Given the description of an element on the screen output the (x, y) to click on. 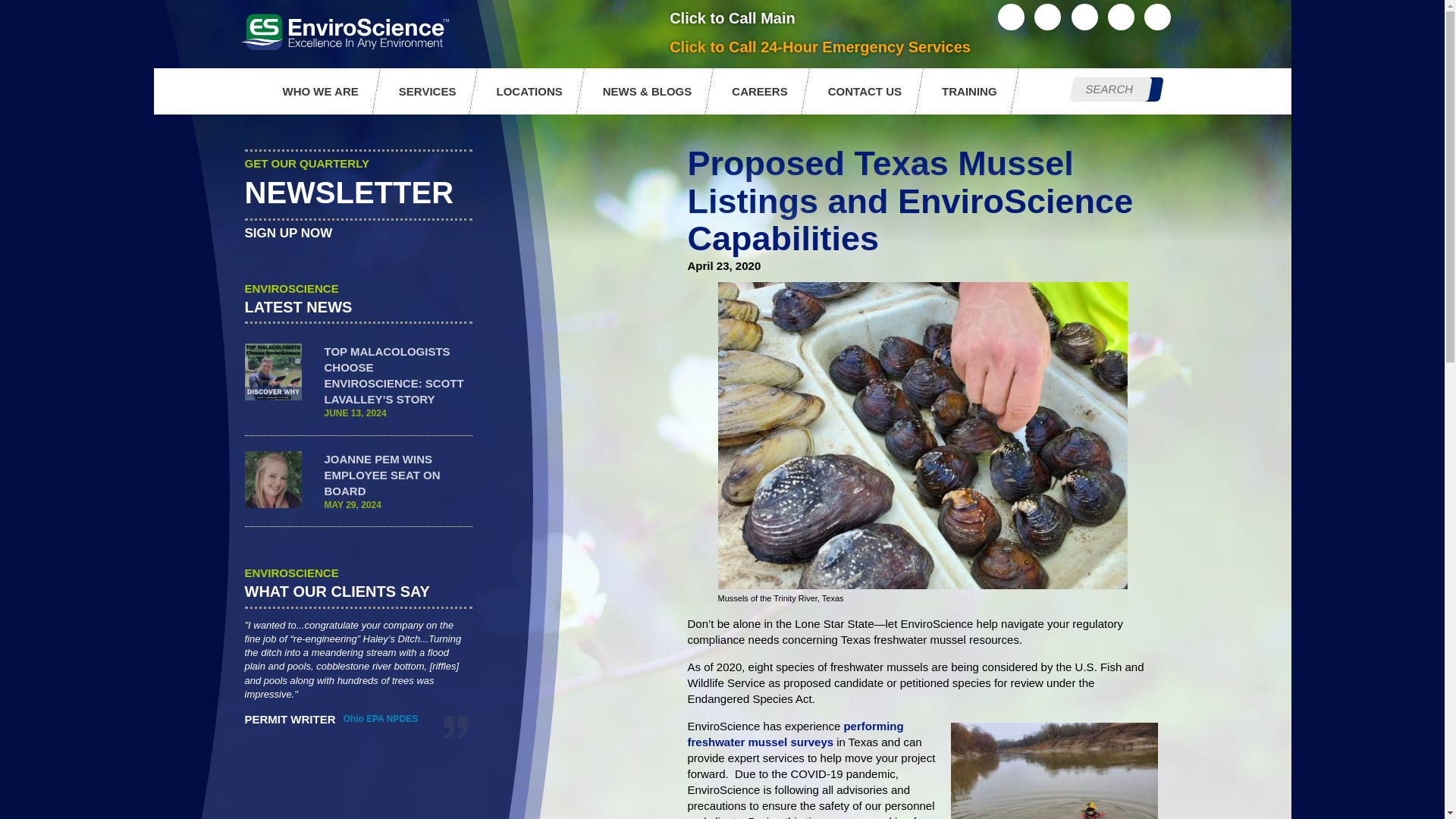
SERVICES (431, 90)
WHO WE ARE (323, 90)
